Given the description of an element on the screen output the (x, y) to click on. 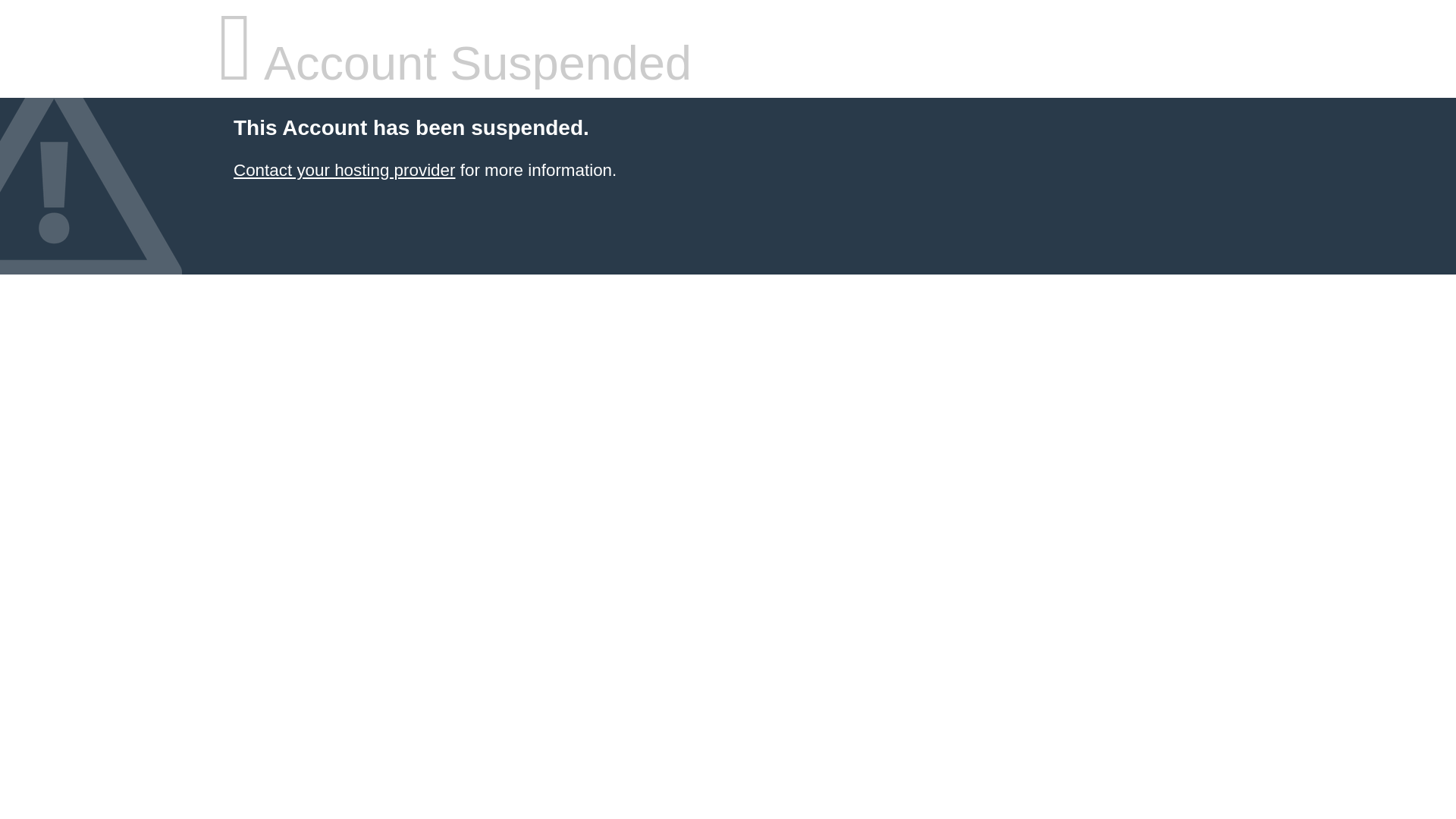
Contact your hosting provider (343, 169)
